Given the description of an element on the screen output the (x, y) to click on. 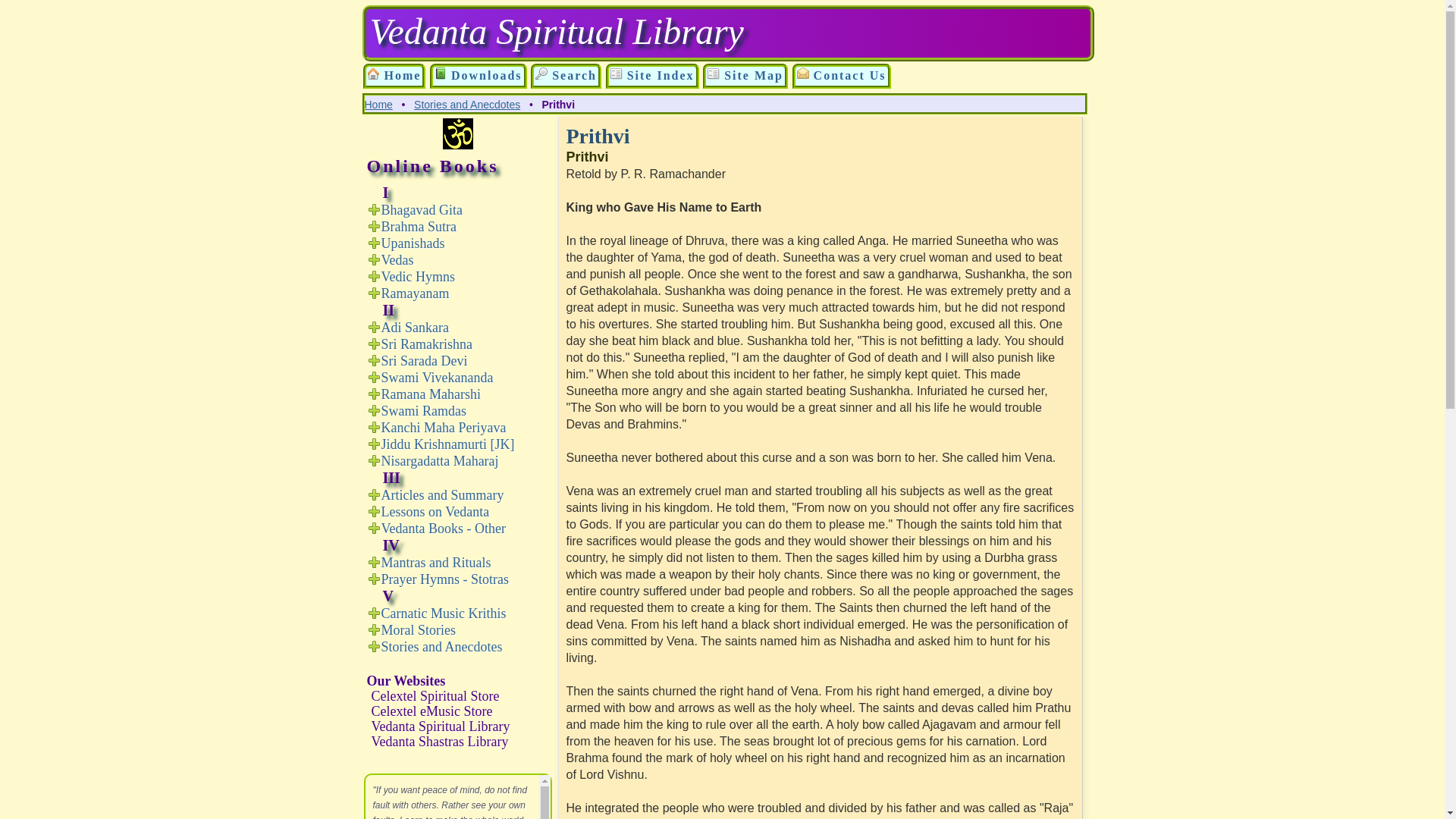
Upanishads (412, 242)
Site Index (616, 73)
Search (541, 73)
 Search (566, 75)
 Site Index (651, 75)
Home (372, 73)
Vedanta Spiritual Library (393, 75)
Downloads (478, 75)
 Home (393, 75)
Site Index (651, 75)
Search (566, 75)
Downloads (439, 73)
Brahma Sutra (417, 226)
Stories and Anecdotes (466, 104)
Site Map (713, 73)
